Given the description of an element on the screen output the (x, y) to click on. 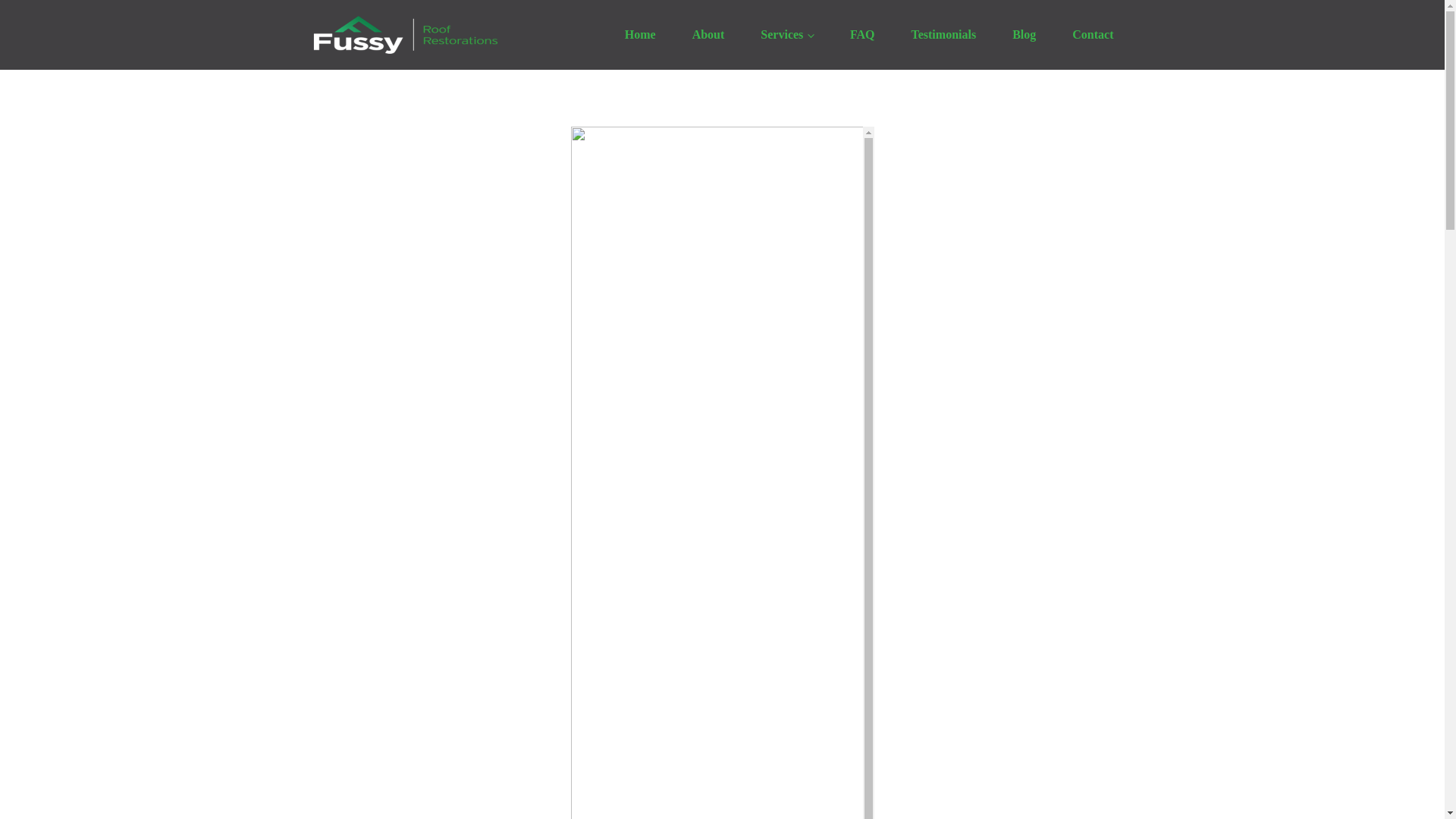
Home (640, 34)
FAQ (862, 34)
Contact (1092, 34)
Testimonials (943, 34)
Blog (1024, 34)
Services (786, 34)
About (708, 34)
